Given the description of an element on the screen output the (x, y) to click on. 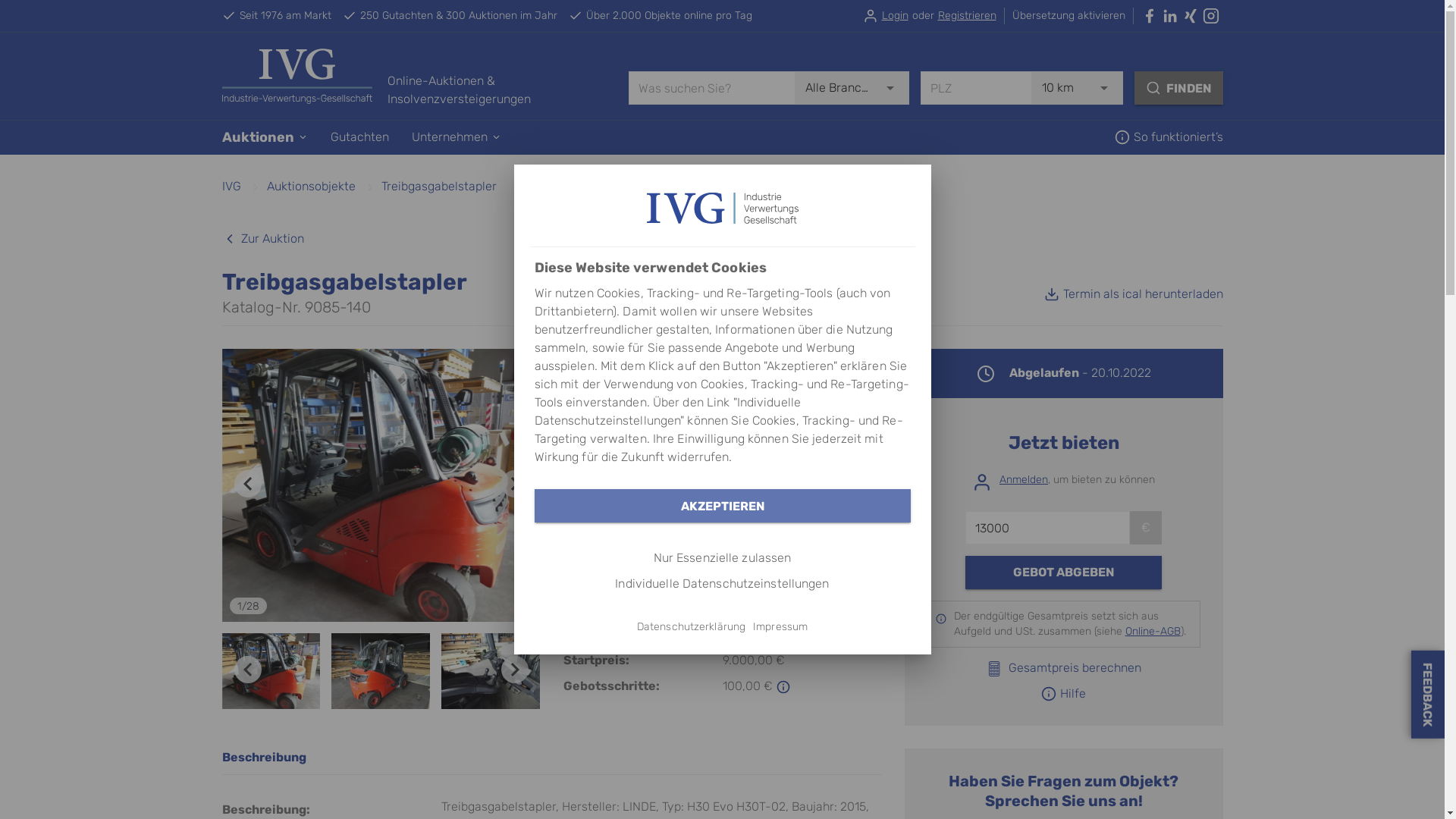
Anmelden Element type: text (1023, 479)
Registrieren Element type: text (966, 15)
linkedin Element type: hover (1171, 15)
Impressum Element type: text (780, 626)
xing Element type: hover (1191, 15)
GEBOT ABGEBEN Element type: text (1063, 572)
Hilfe Element type: text (1063, 693)
AKZEPTIEREN Element type: text (721, 505)
Online-AGB Element type: text (1152, 630)
IVG Element type: hover (721, 207)
IVG Element type: text (230, 185)
Termin als ical herunterladen Element type: text (1132, 294)
Online-AGB Element type: text (725, 493)
Gutachten Element type: text (359, 136)
Zur Auktion Element type: text (262, 238)
FINDEN Element type: text (1178, 87)
Timmermann GmbH & Co. KG Element type: text (792, 547)
instagram Element type: hover (1212, 15)
Individuelle Datenschutzeinstellungen Element type: text (721, 583)
Auktionen Element type: text (264, 136)
25 Gebote Element type: text (704, 377)
facebook Element type: hover (1150, 15)
Online-AGB Element type: text (729, 394)
Login Element type: text (894, 15)
Nur Essenzielle zulassen Element type: text (721, 558)
Auktionsobjekte Element type: text (310, 185)
Unternehmen Element type: text (455, 136)
